Given the description of an element on the screen output the (x, y) to click on. 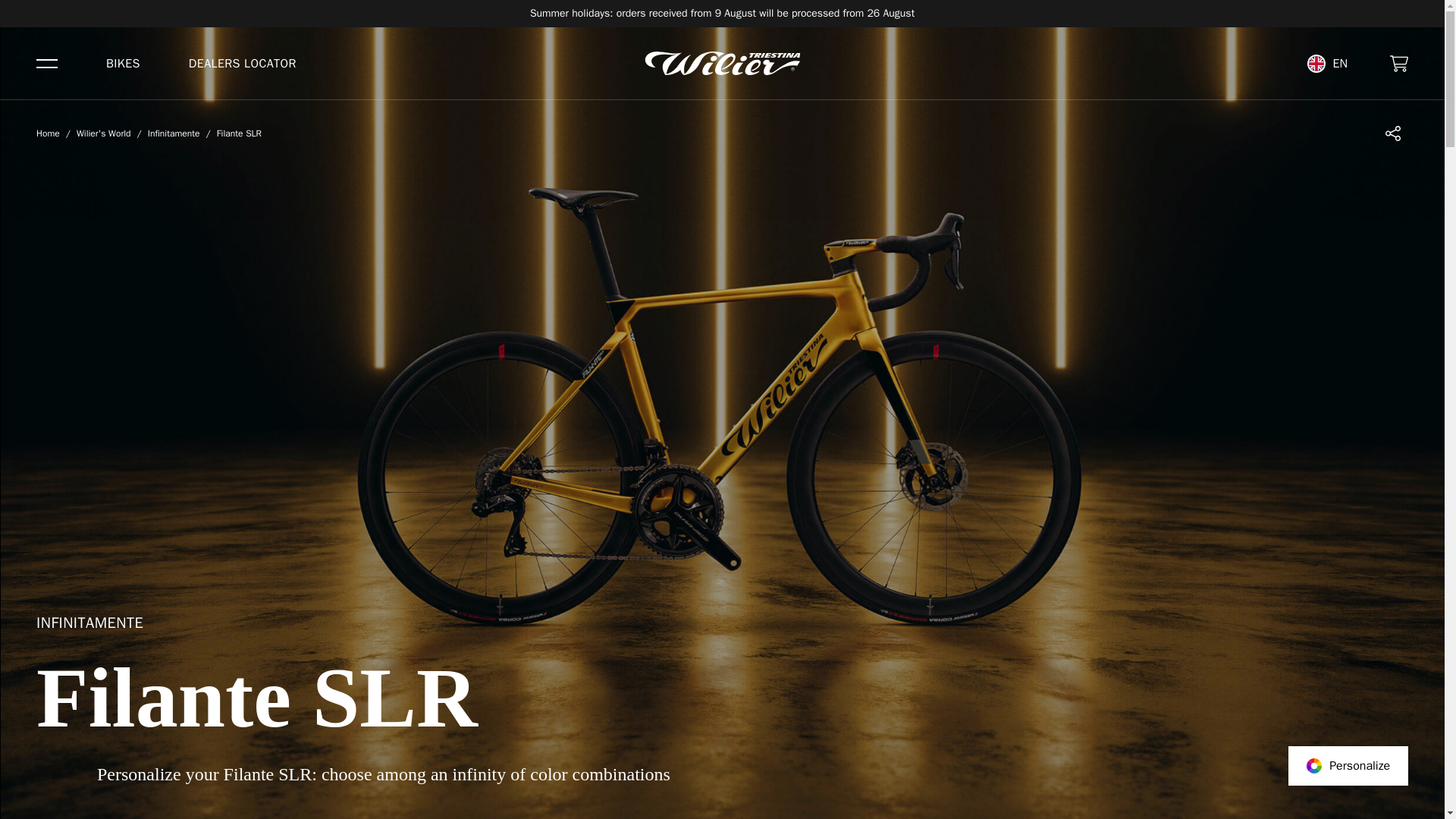
Wilier Triestina Bikes (722, 63)
Bikes (122, 63)
DEALERS LOCATOR (243, 63)
Dealers locator (243, 63)
BIKES (122, 63)
Home (722, 63)
